Given the description of an element on the screen output the (x, y) to click on. 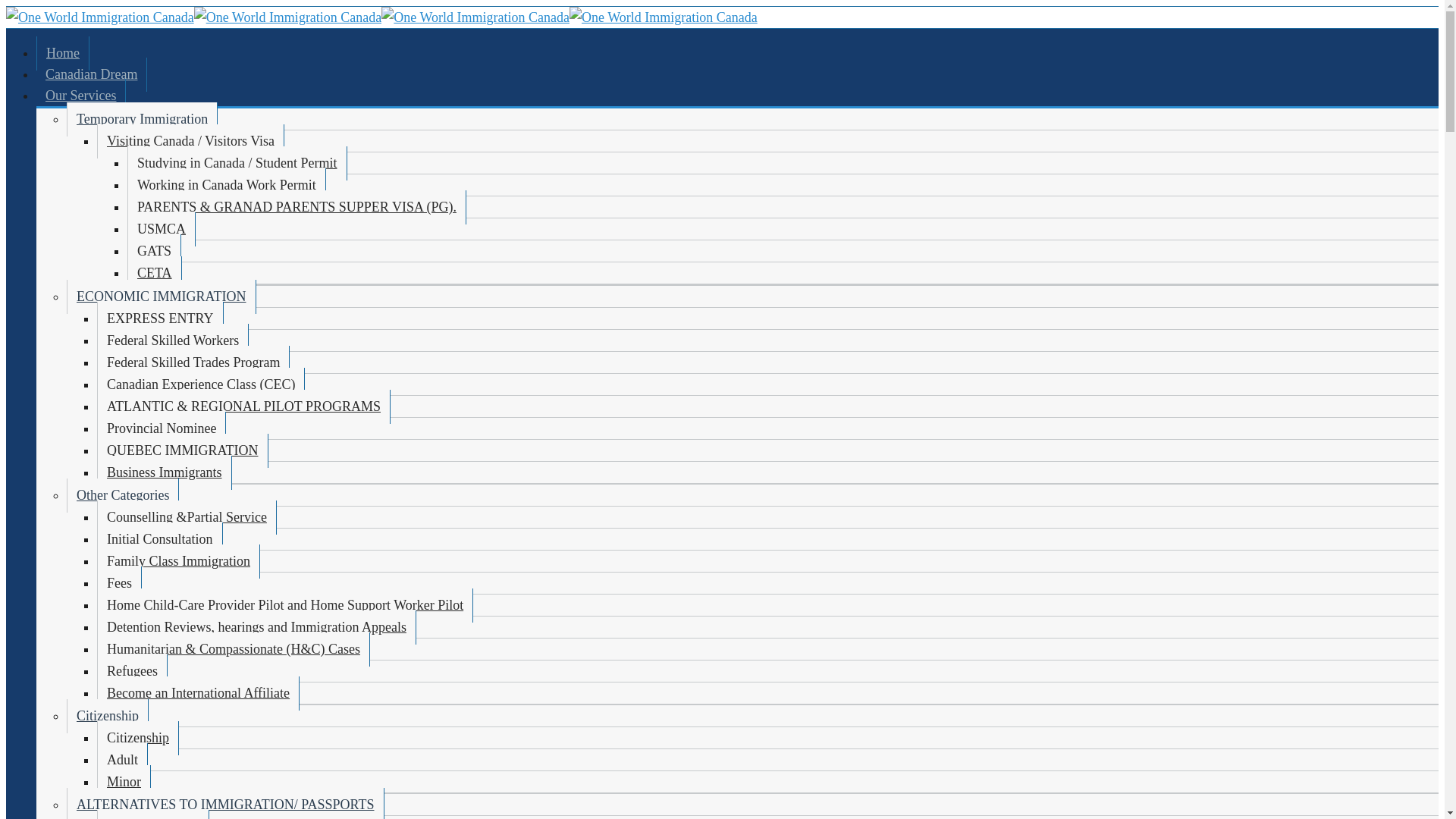
Other Categories (122, 495)
Canadian Dream (91, 74)
Business Immigrants (164, 472)
Home Child-Care Provider Pilot and Home Support Worker Pilot (285, 605)
Working in Canada Work Permit (227, 185)
Detention Reviews, hearings and Immigration Appeals (256, 627)
ECONOMIC IMMIGRATION (161, 296)
Adult (122, 759)
Federal Skilled Trades Program (193, 362)
Home (62, 53)
Minor (124, 781)
Become an International Affiliate (198, 693)
One World Immigration Canada (99, 16)
Refugees (132, 671)
One World Immigration Canada (287, 16)
